Given the description of an element on the screen output the (x, y) to click on. 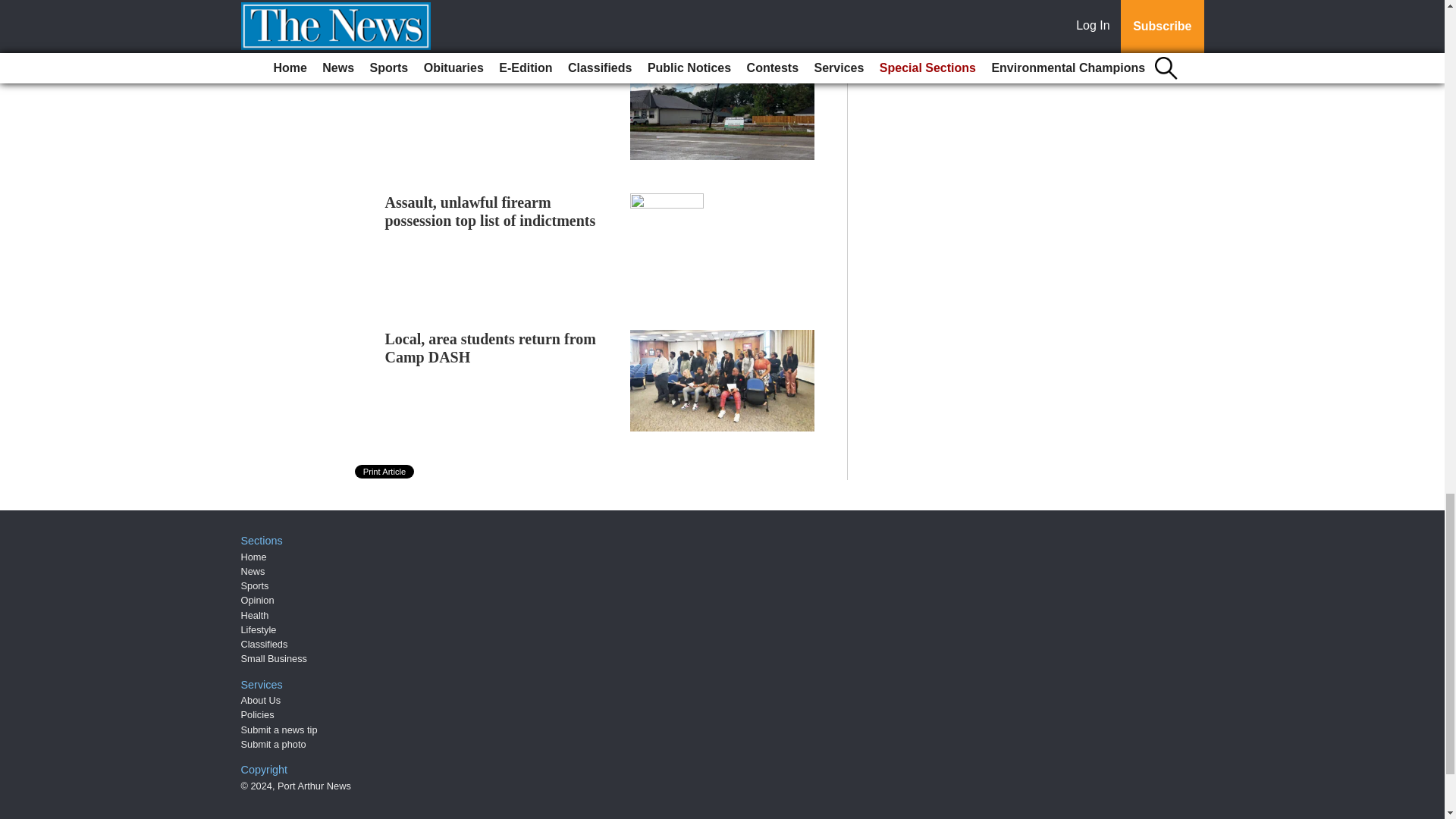
Local, area students return from Camp DASH (490, 347)
Assault, unlawful firearm possession top list of indictments (490, 211)
Print Article (384, 471)
Assault, unlawful firearm possession top list of indictments (490, 211)
New plaza coming to Port Neches (493, 67)
New plaza coming to Port Neches (493, 67)
Local, area students return from Camp DASH (490, 347)
